Given the description of an element on the screen output the (x, y) to click on. 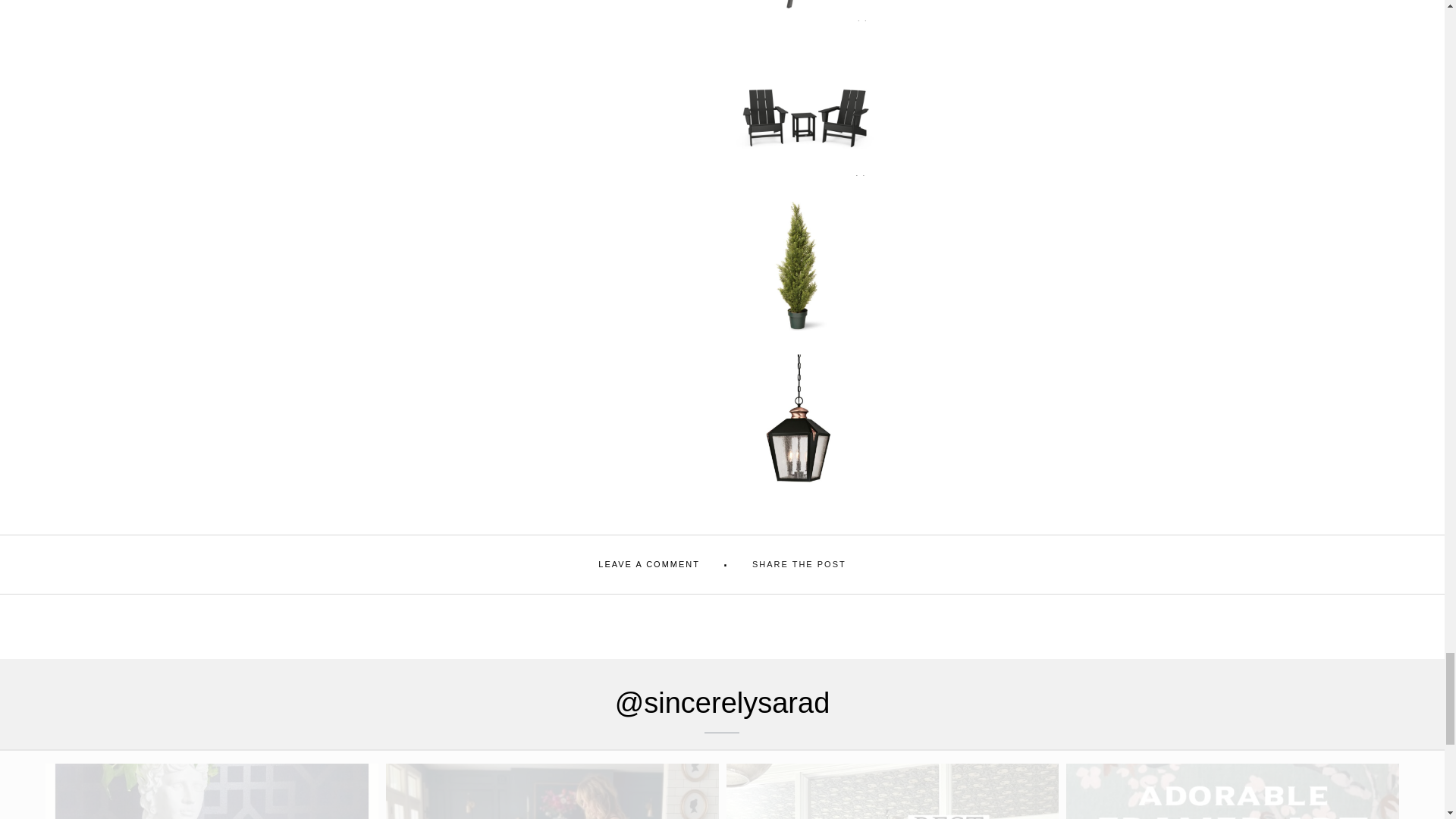
LEAVE A COMMENT (649, 563)
LEAVE A COMMENT (649, 563)
